Given the description of an element on the screen output the (x, y) to click on. 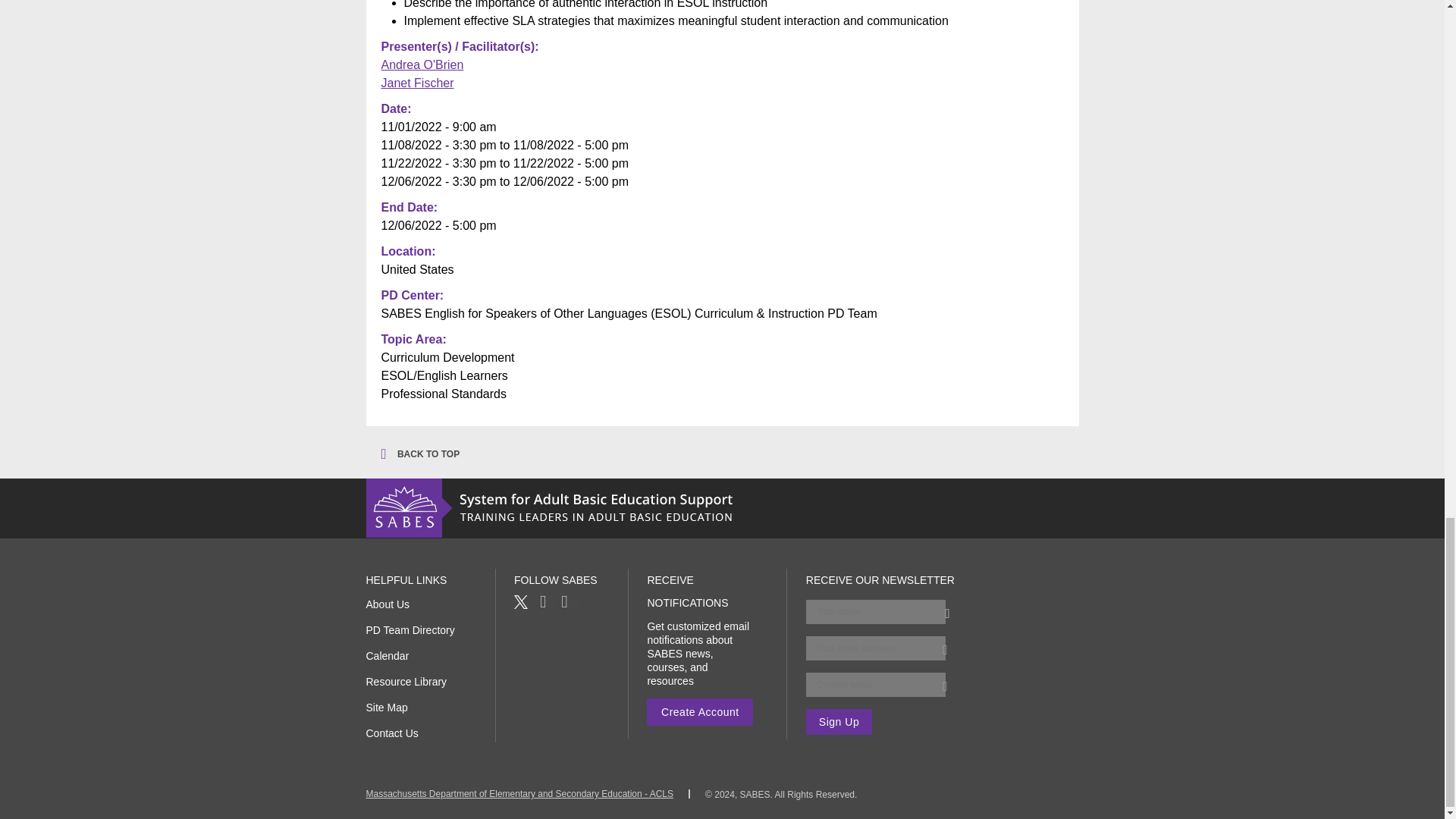
Sign Up (839, 721)
